Given the description of an element on the screen output the (x, y) to click on. 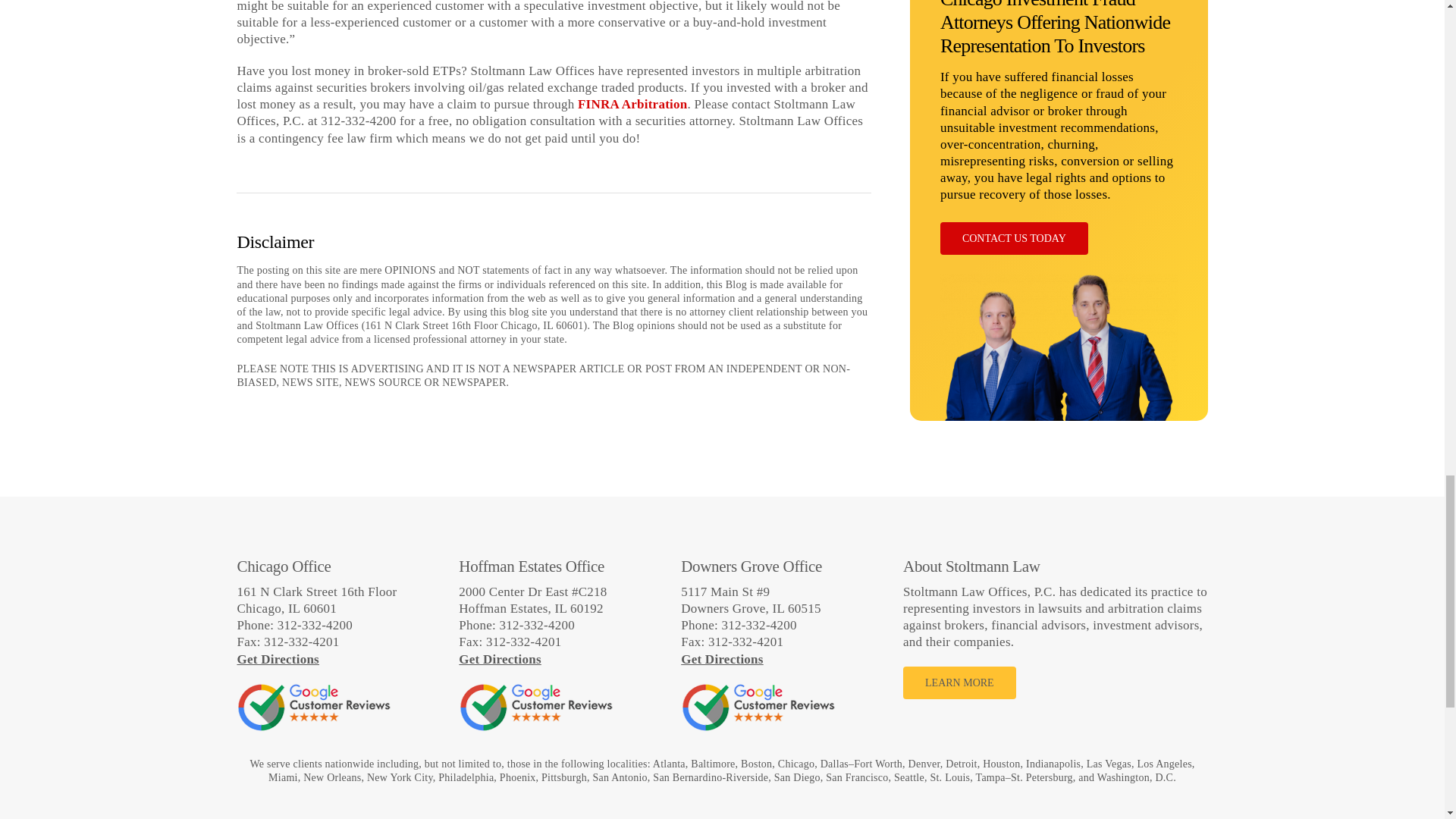
Google Customer Reviews (535, 707)
